Given the description of an element on the screen output the (x, y) to click on. 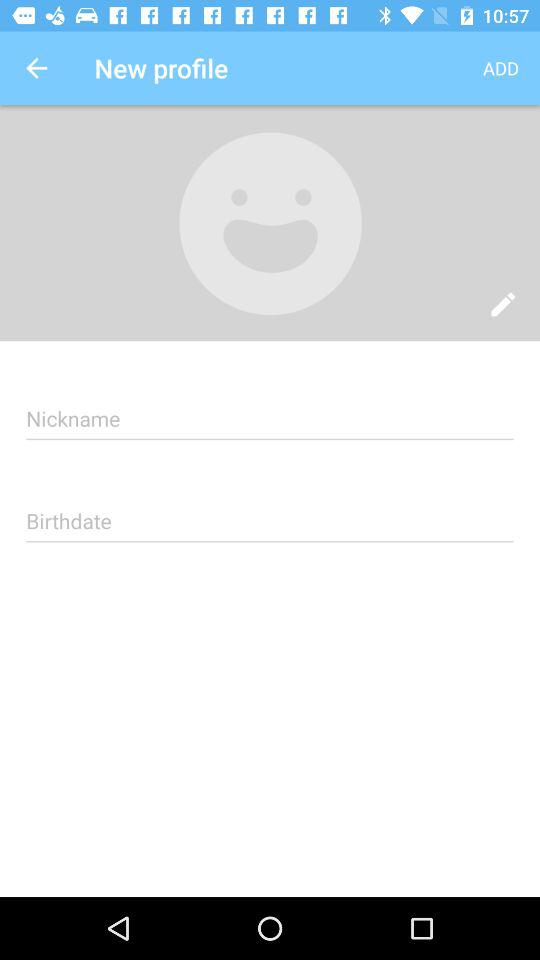
select the add icon (500, 67)
